Given the description of an element on the screen output the (x, y) to click on. 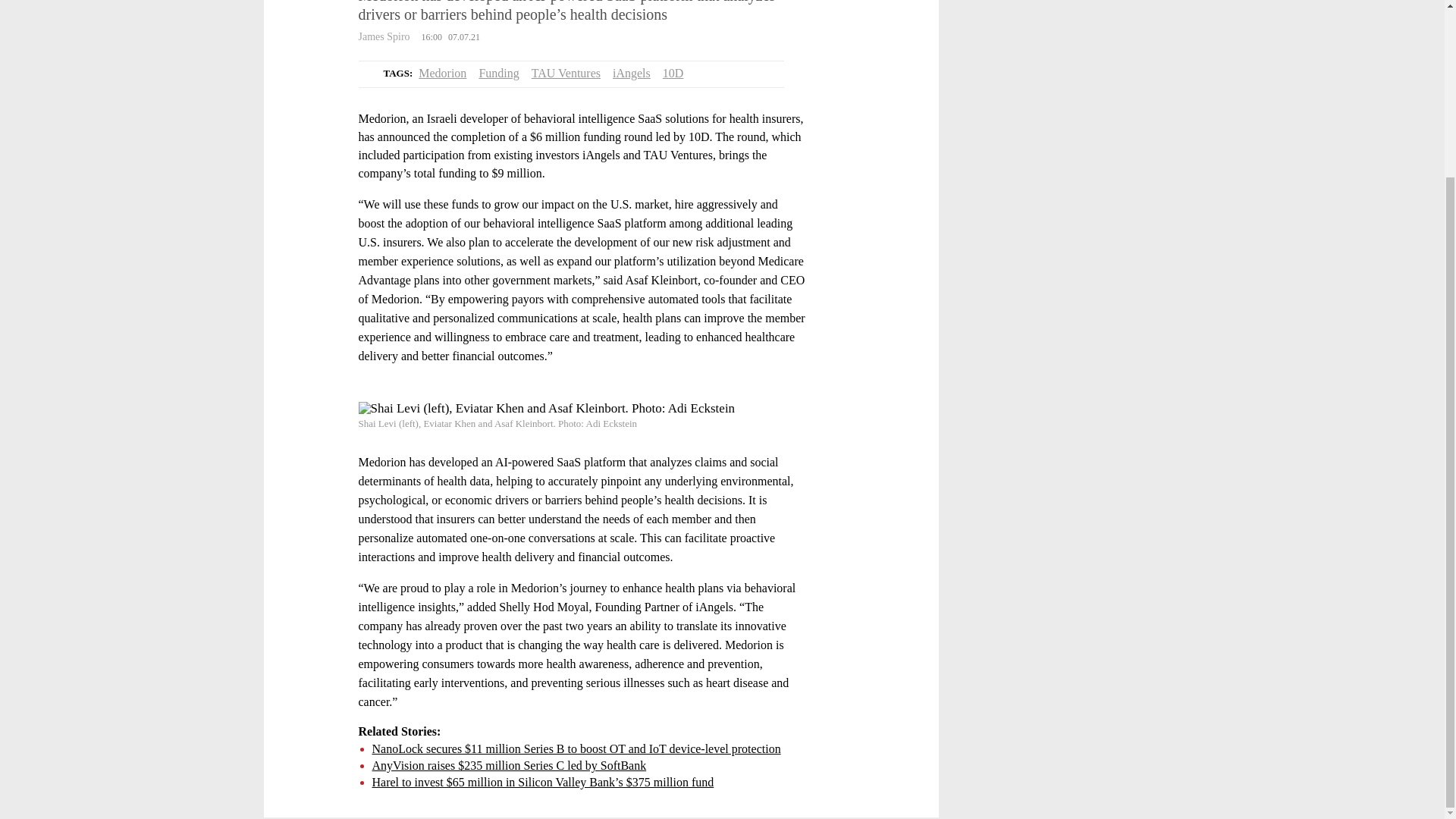
10D (673, 72)
Funding (498, 72)
iAngels (631, 72)
Print (311, 52)
Medorion (442, 72)
TAU Ventures (565, 72)
Linkedin (311, 13)
